Given the description of an element on the screen output the (x, y) to click on. 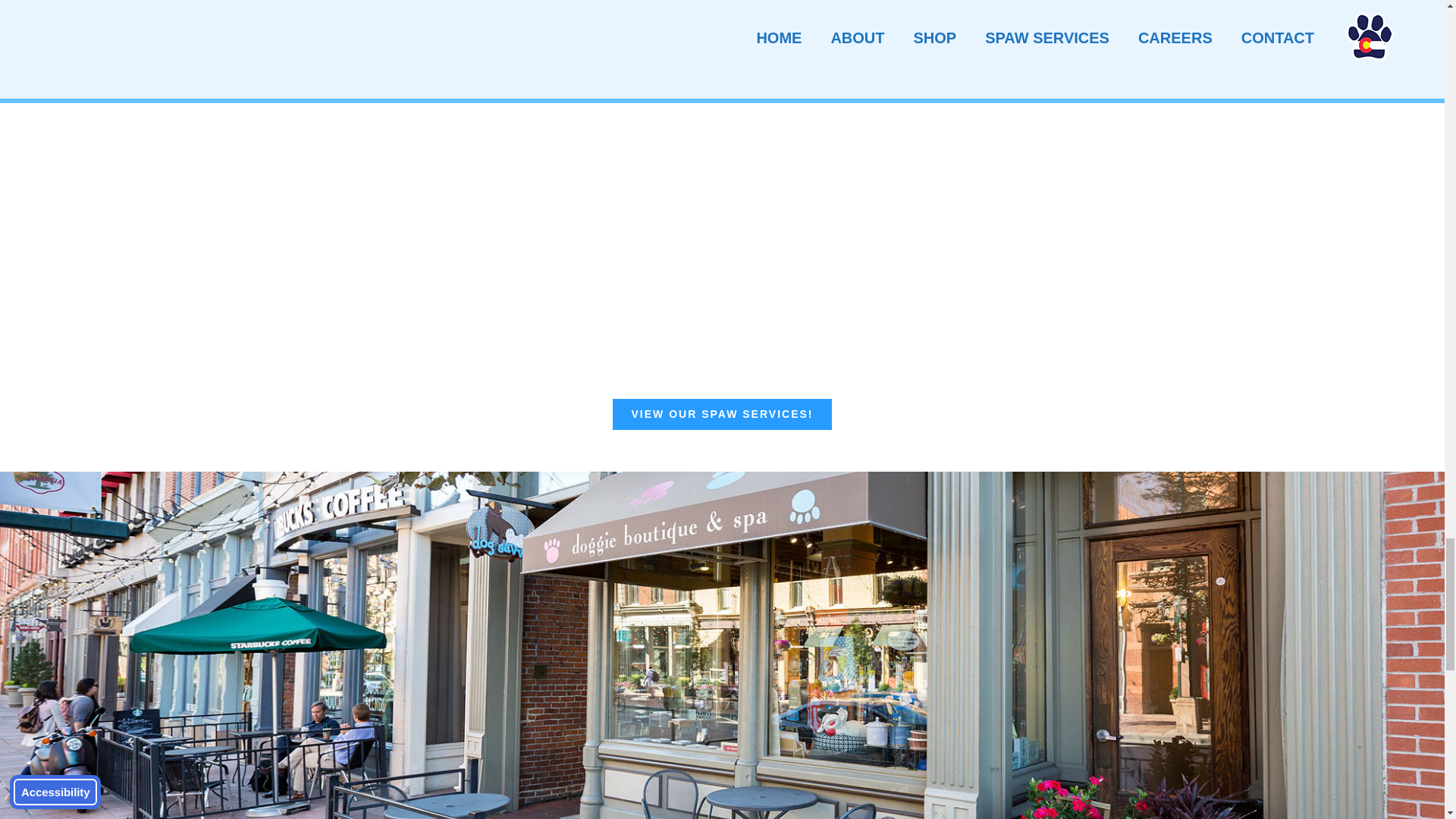
VIEW OUR SPAW SERVICES! (722, 413)
